Given the description of an element on the screen output the (x, y) to click on. 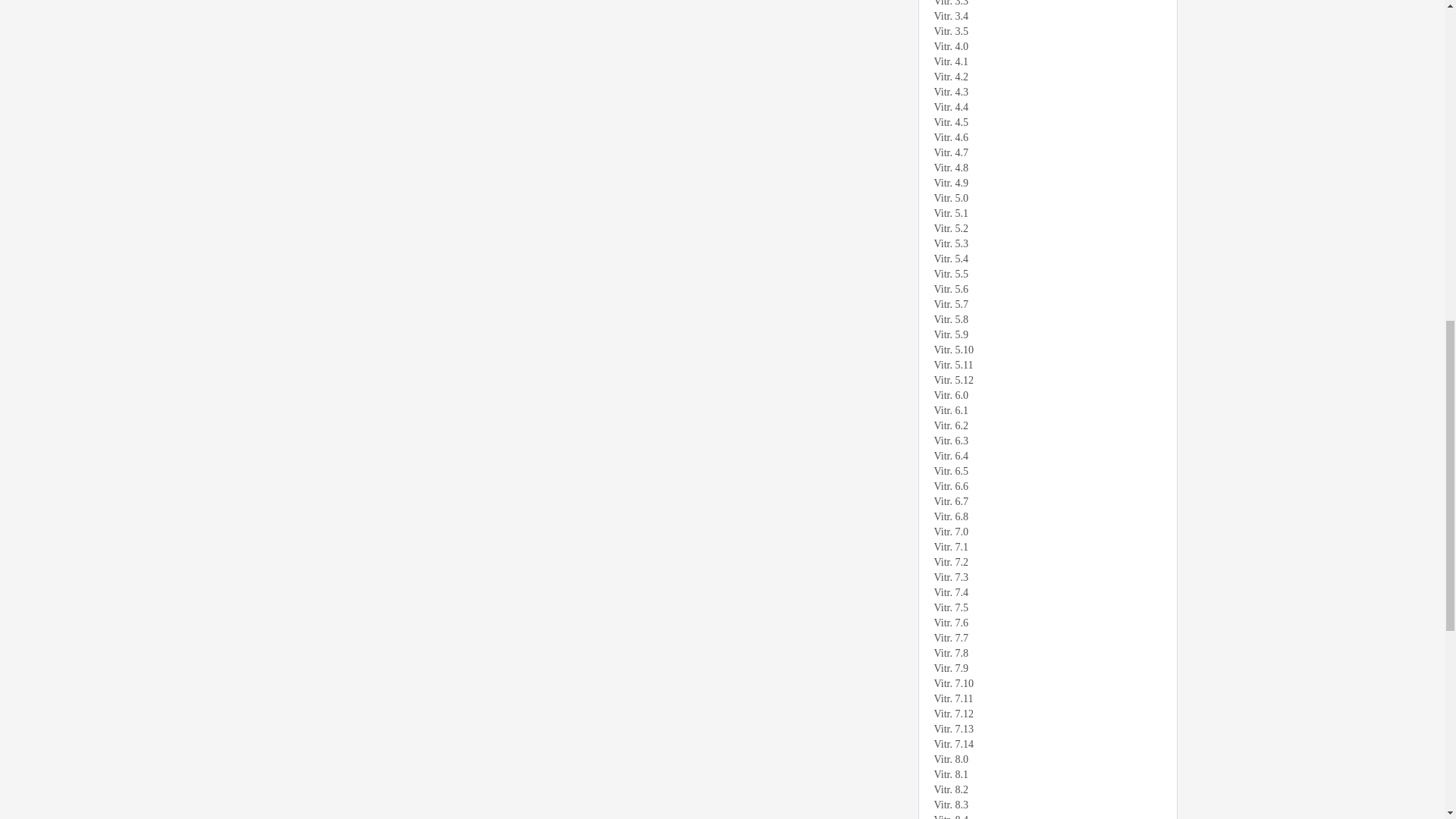
Vitr. 4.0 (1040, 46)
Vitr. 4.4 (1040, 107)
Vitr. 4.5 (1040, 122)
Vitr. 4.6 (1040, 137)
Vitr. 4.1 (1040, 61)
Vitr. 3.4 (1040, 16)
Vitr. 4.3 (1040, 92)
Vitr. 4.2 (1040, 77)
Vitr. 3.5 (1040, 31)
Vitr. 3.3 (1040, 4)
